Given the description of an element on the screen output the (x, y) to click on. 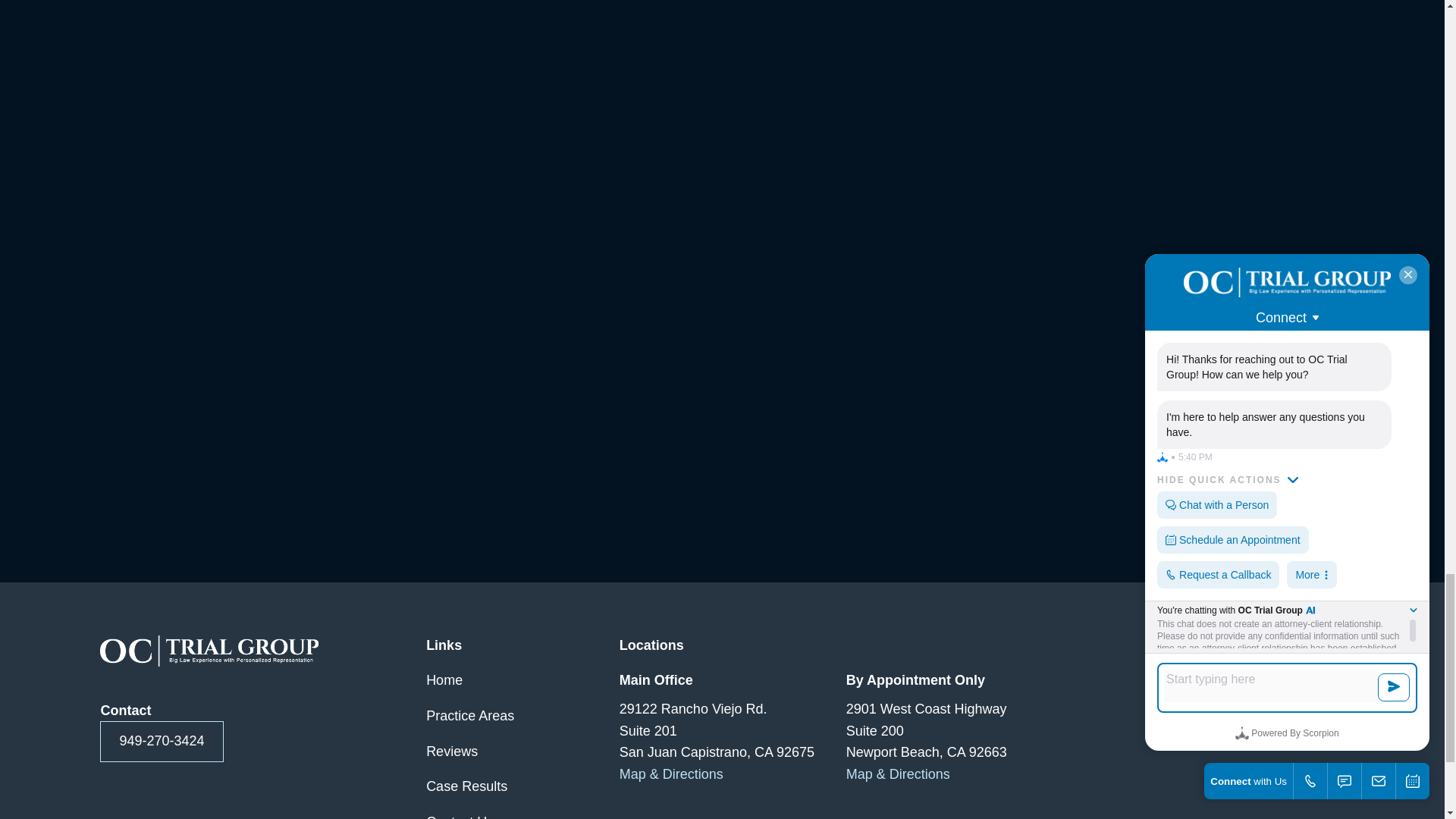
YouTube (1165, 680)
LinkedIn2 (1212, 680)
Instagram (1257, 680)
Home (209, 650)
Facebook (1304, 680)
